Given the description of an element on the screen output the (x, y) to click on. 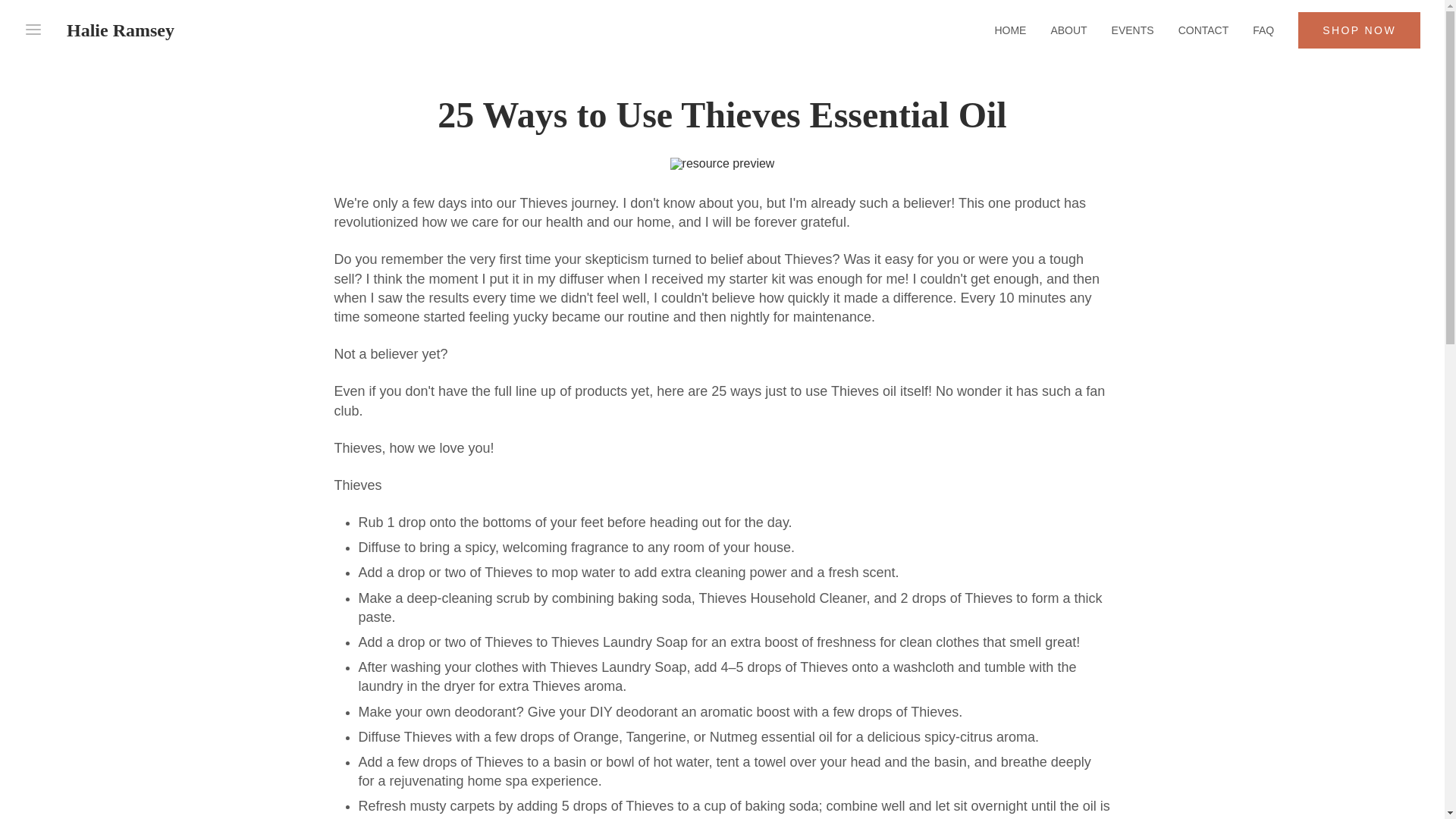
CONTACT (1202, 30)
FAQ (1263, 30)
SHOP NOW (1359, 30)
ABOUT (1067, 30)
EVENTS (1133, 30)
HOME (1010, 30)
